Given the description of an element on the screen output the (x, y) to click on. 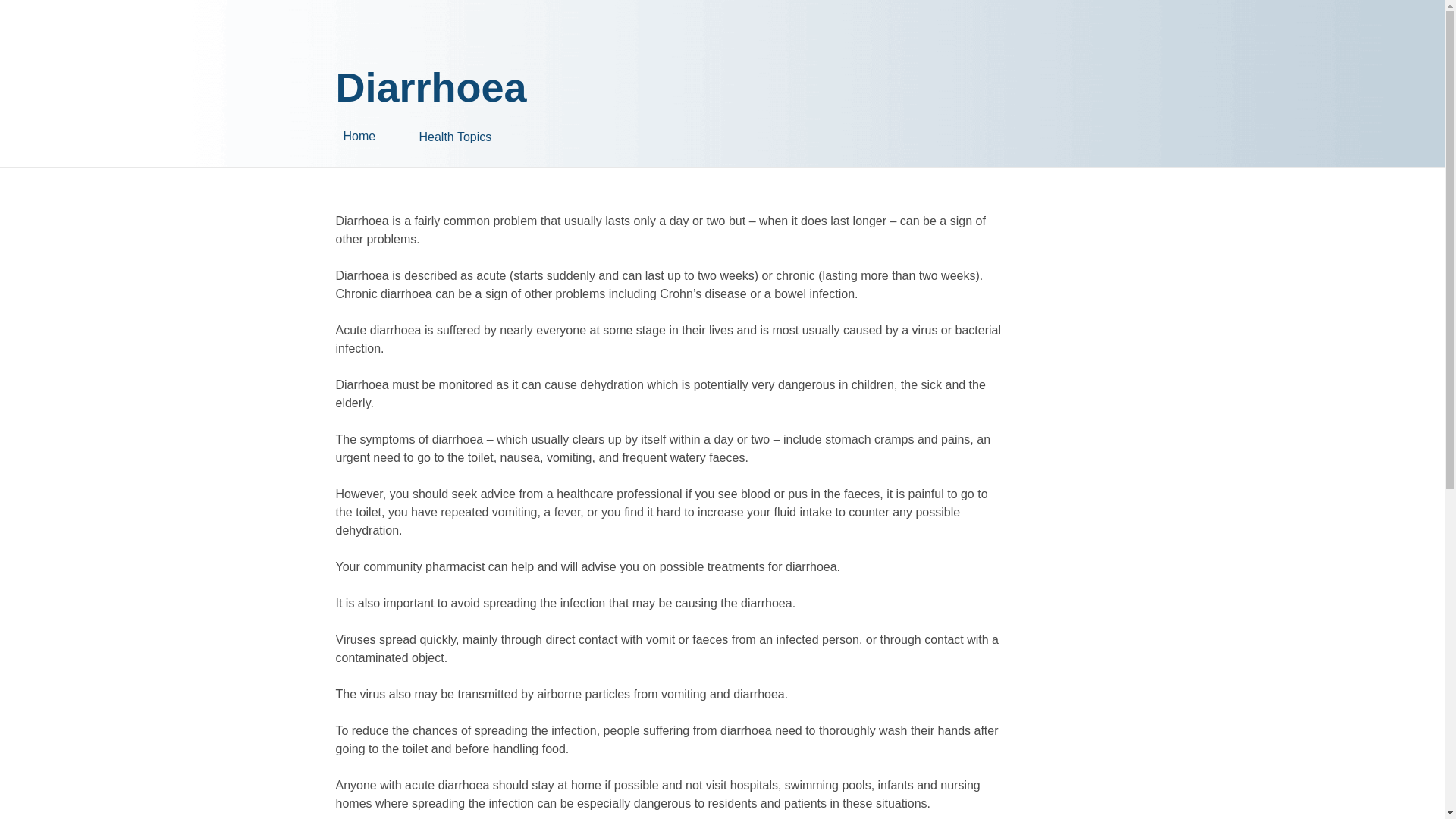
Home (380, 136)
Health Topics (494, 129)
